Given the description of an element on the screen output the (x, y) to click on. 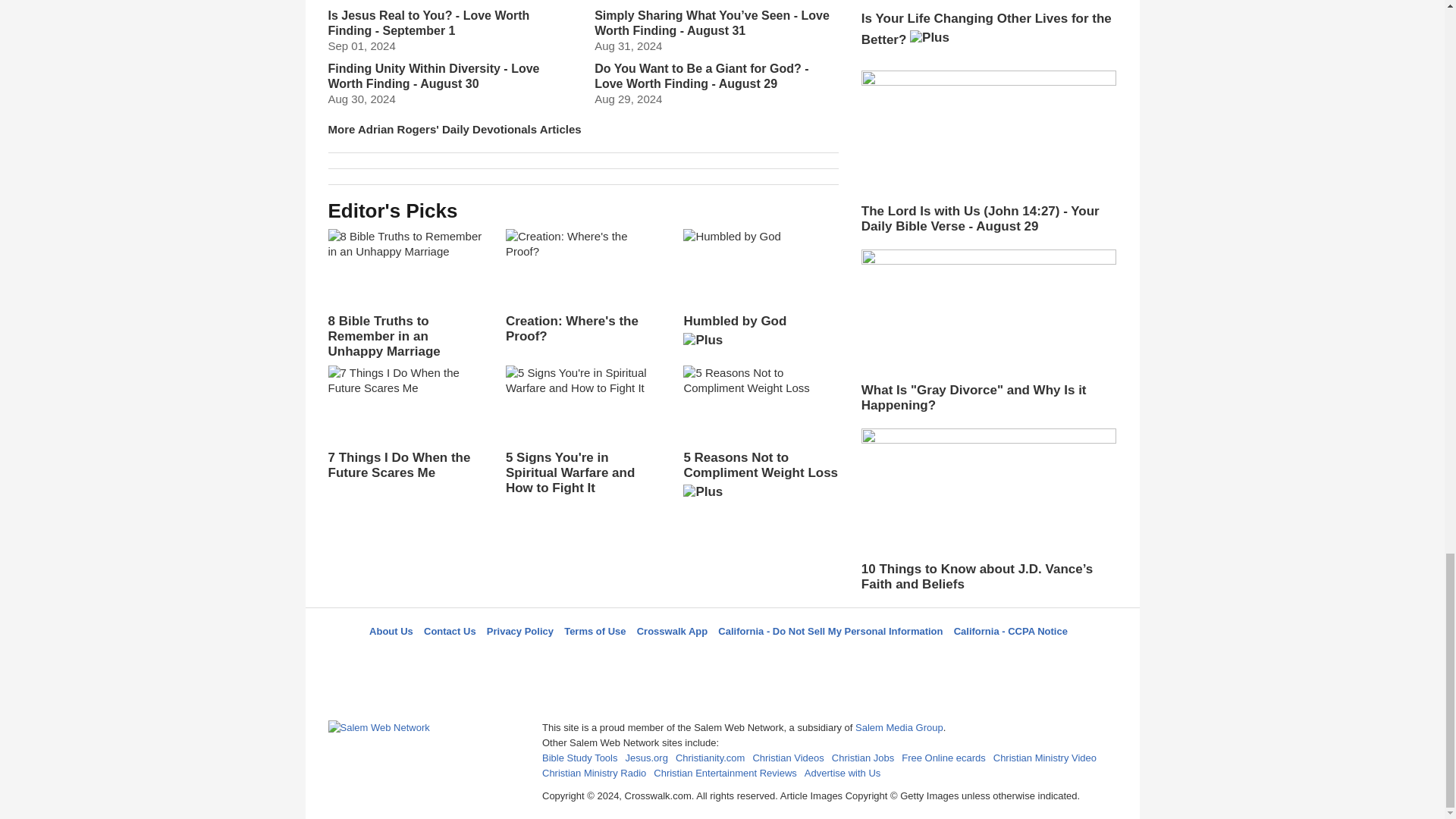
8 Bible Truths to Remember in an Unhappy Marriage (404, 294)
5 Signs You're in Spiritual Warfare and How to Fight It (583, 430)
Humbled by God (760, 293)
Creation: Where's the Proof? (583, 286)
Twitter (683, 658)
Facebook (645, 658)
LifeAudio (719, 658)
7 Things I Do When the Future Scares Me (404, 422)
5 Reasons Not to Compliment Weight Loss (760, 437)
Pinterest (757, 658)
